Given the description of an element on the screen output the (x, y) to click on. 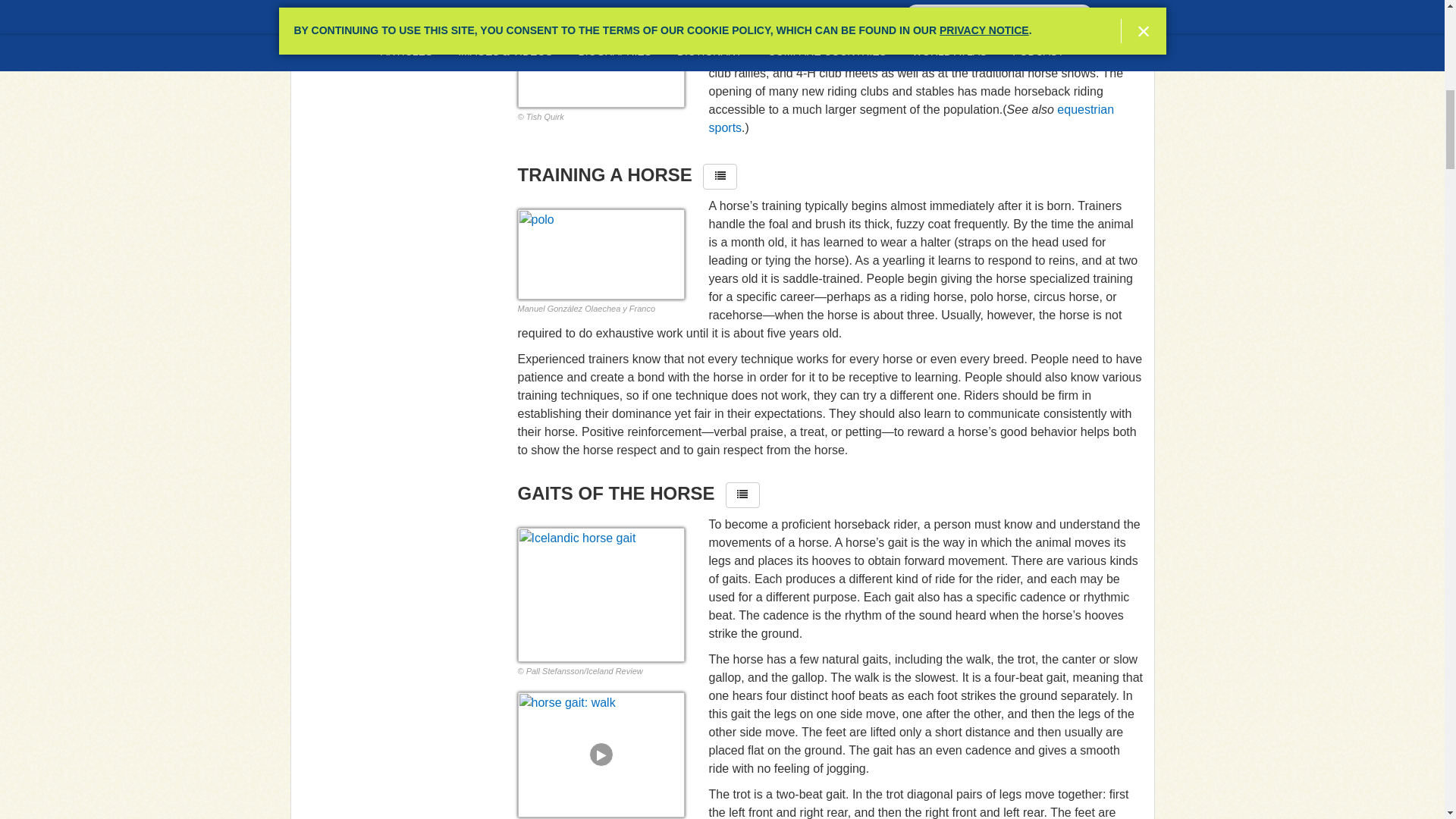
polo (600, 254)
horse gait: walk (600, 754)
Dutch Warmblood (600, 53)
Table of Contents (720, 176)
Table of Contents (742, 494)
Icelandic horse gait (600, 594)
